Given the description of an element on the screen output the (x, y) to click on. 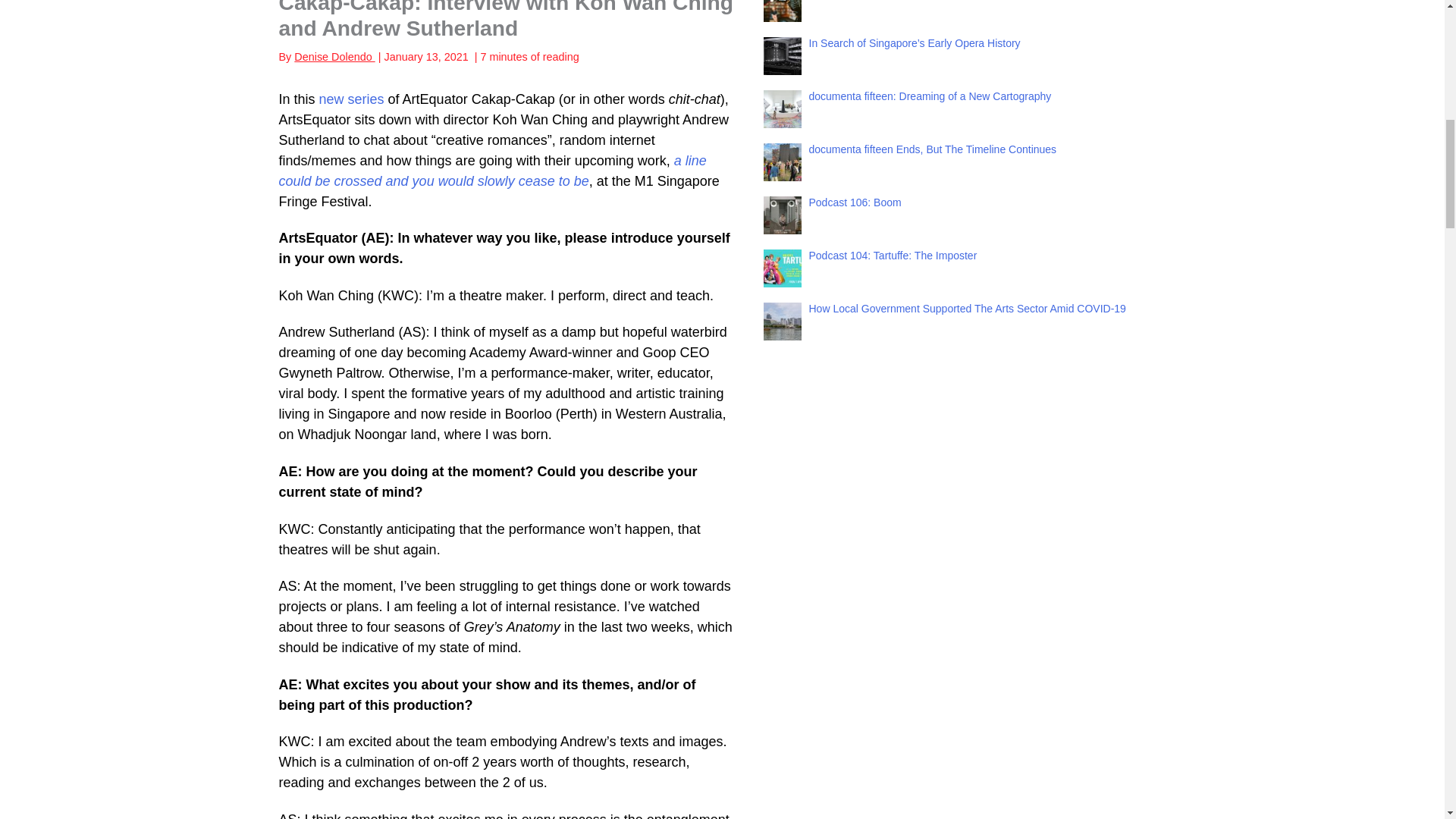
new series (351, 99)
View all posts by Denise Dolendo (334, 56)
a line could be crossed and you would slowly cease to be (492, 171)
Denise Dolendo (334, 56)
